Given the description of an element on the screen output the (x, y) to click on. 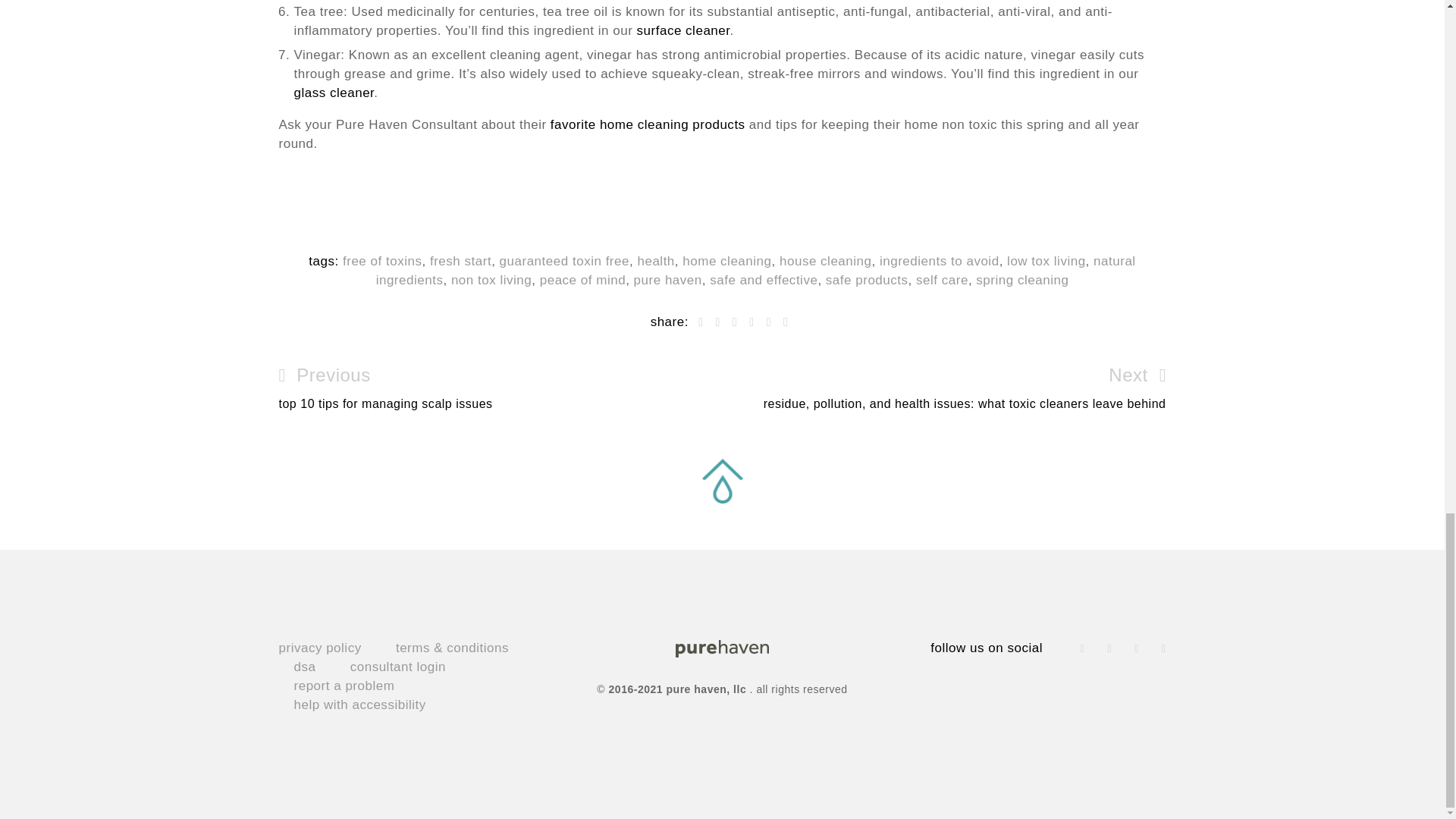
home cleaning (726, 260)
glass cleaner (334, 92)
guaranteed toxin free (563, 260)
favorite home cleaning products (647, 124)
free of toxins (382, 260)
health (655, 260)
fresh start (460, 260)
surface cleaner (683, 30)
house cleaning (825, 260)
